Given the description of an element on the screen output the (x, y) to click on. 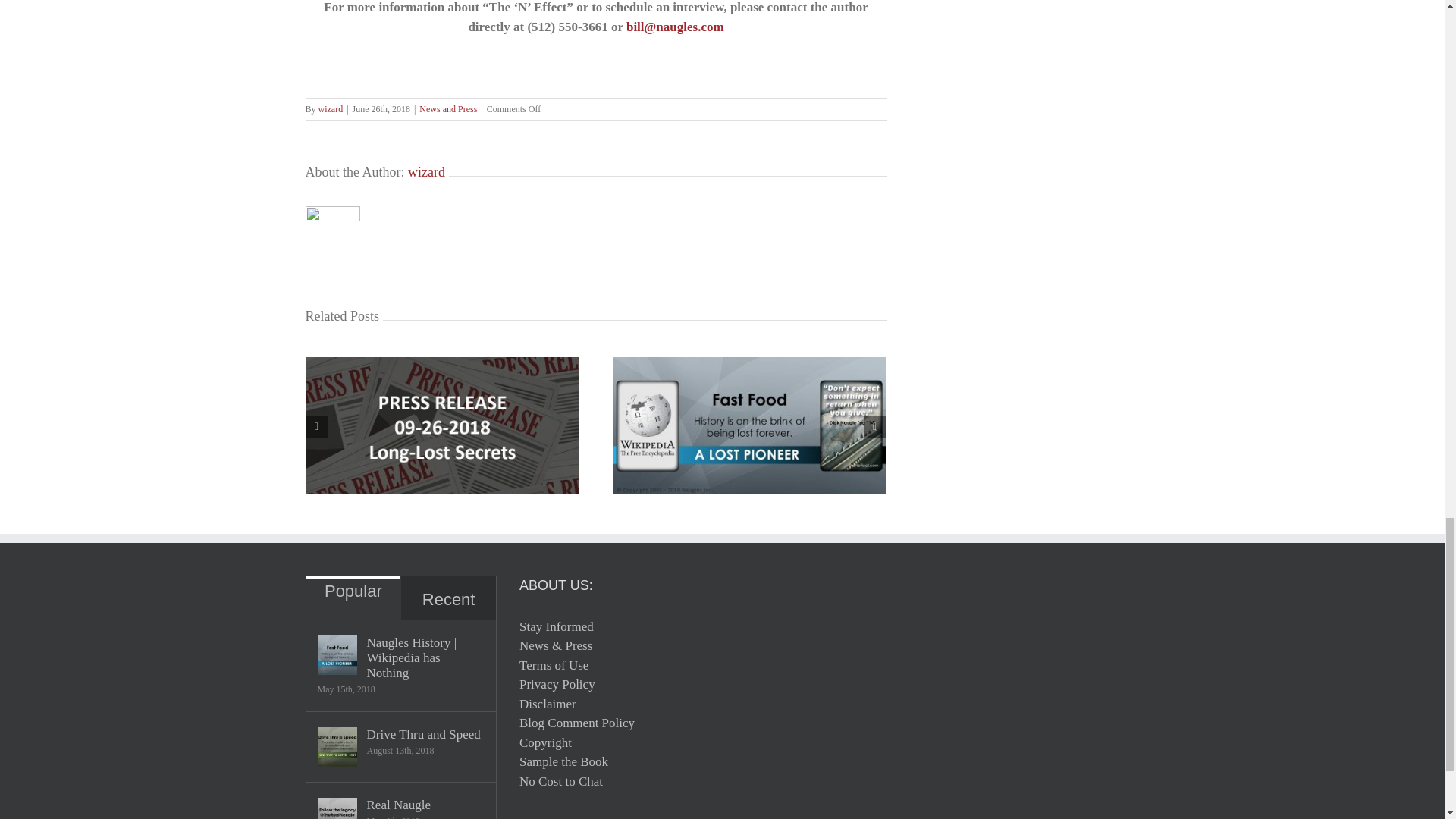
Posts by wizard (330, 109)
Posts by wizard (426, 171)
